Given the description of an element on the screen output the (x, y) to click on. 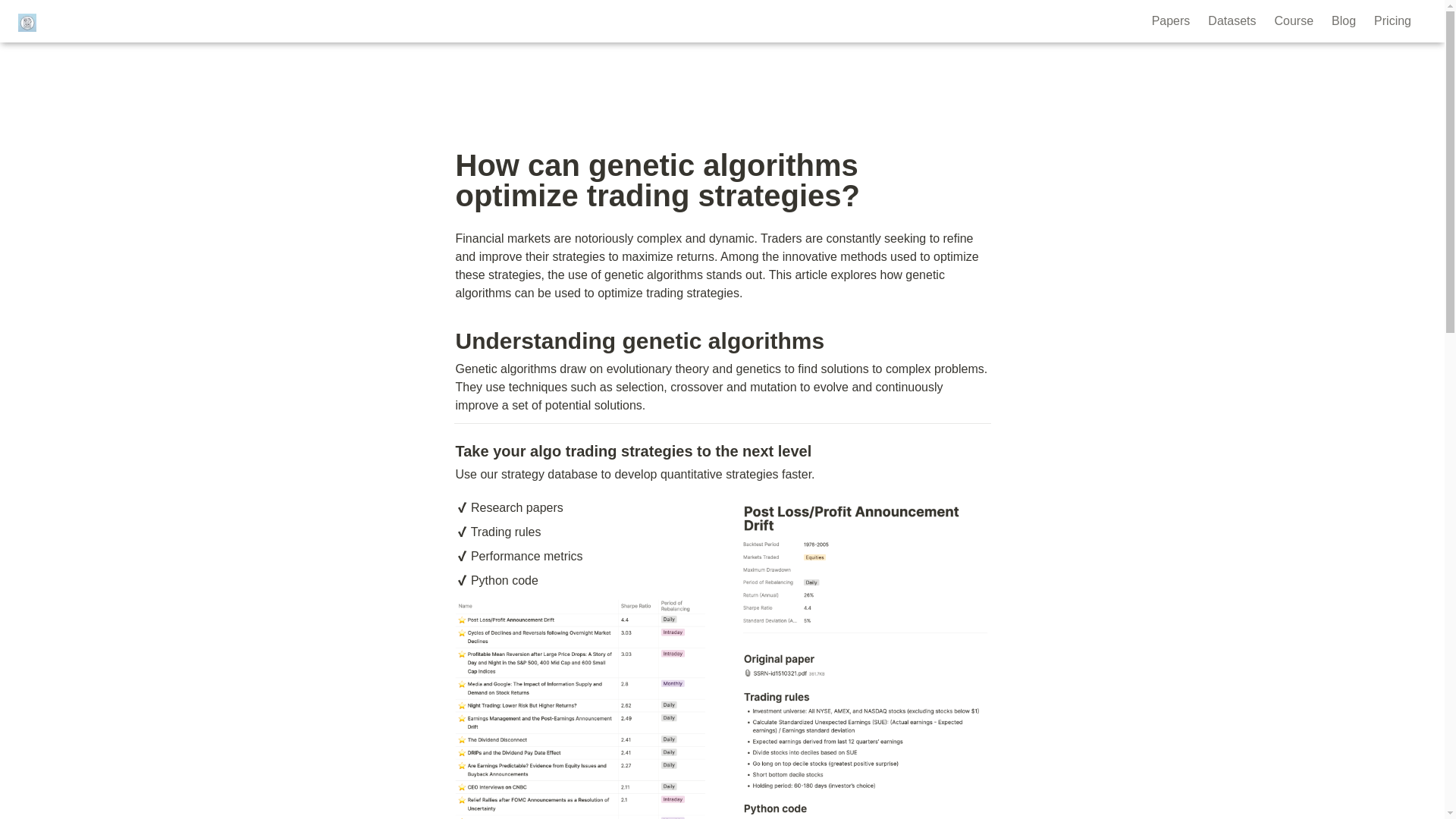
Datasets (1231, 21)
Blog (1343, 21)
Pricing (1393, 21)
Course (1293, 21)
Papers (1170, 21)
